Given the description of an element on the screen output the (x, y) to click on. 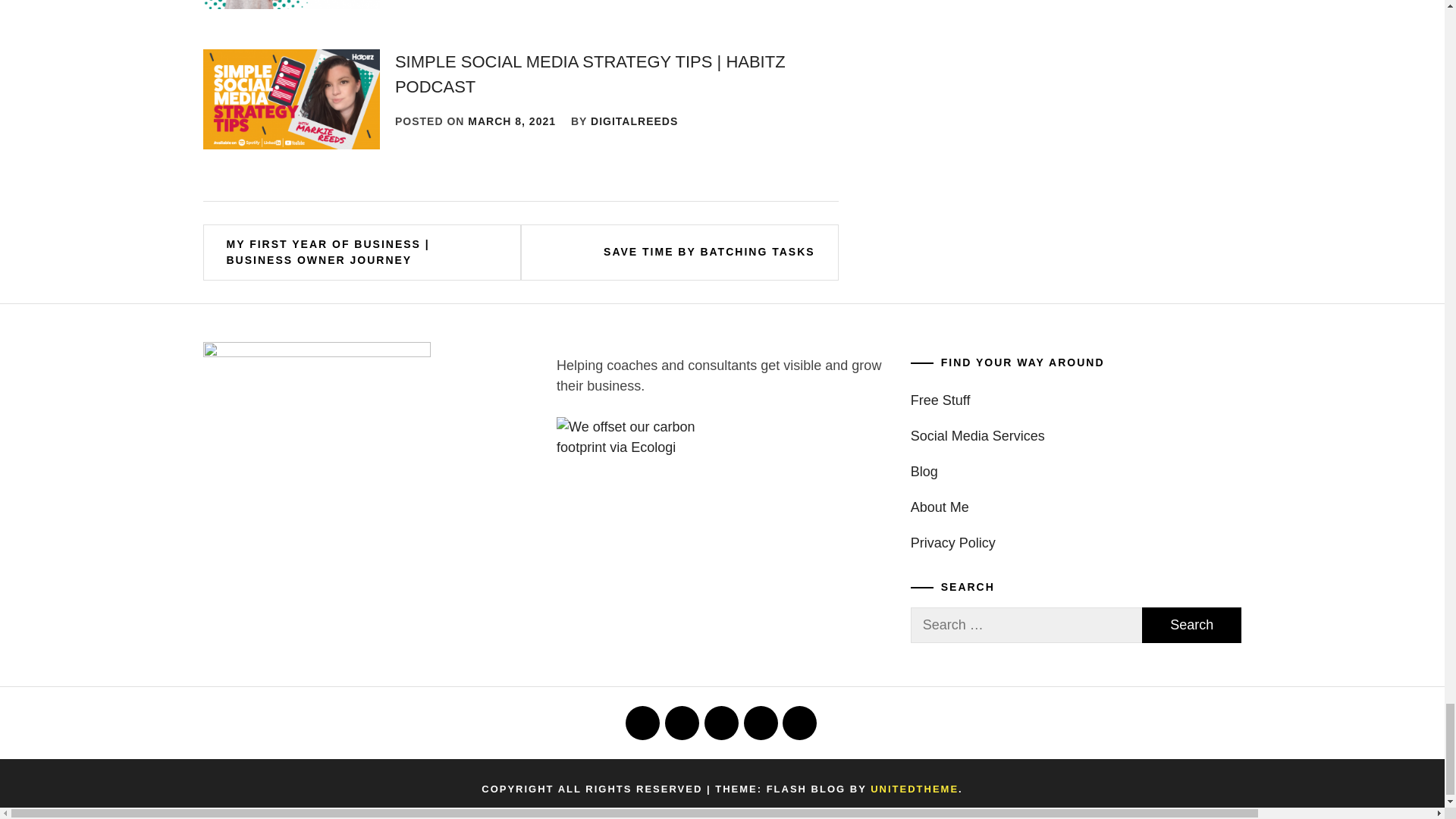
View our Ecologi profile (631, 436)
Search (1191, 624)
Search (1191, 624)
MARCH 8, 2021 (511, 121)
